Given the description of an element on the screen output the (x, y) to click on. 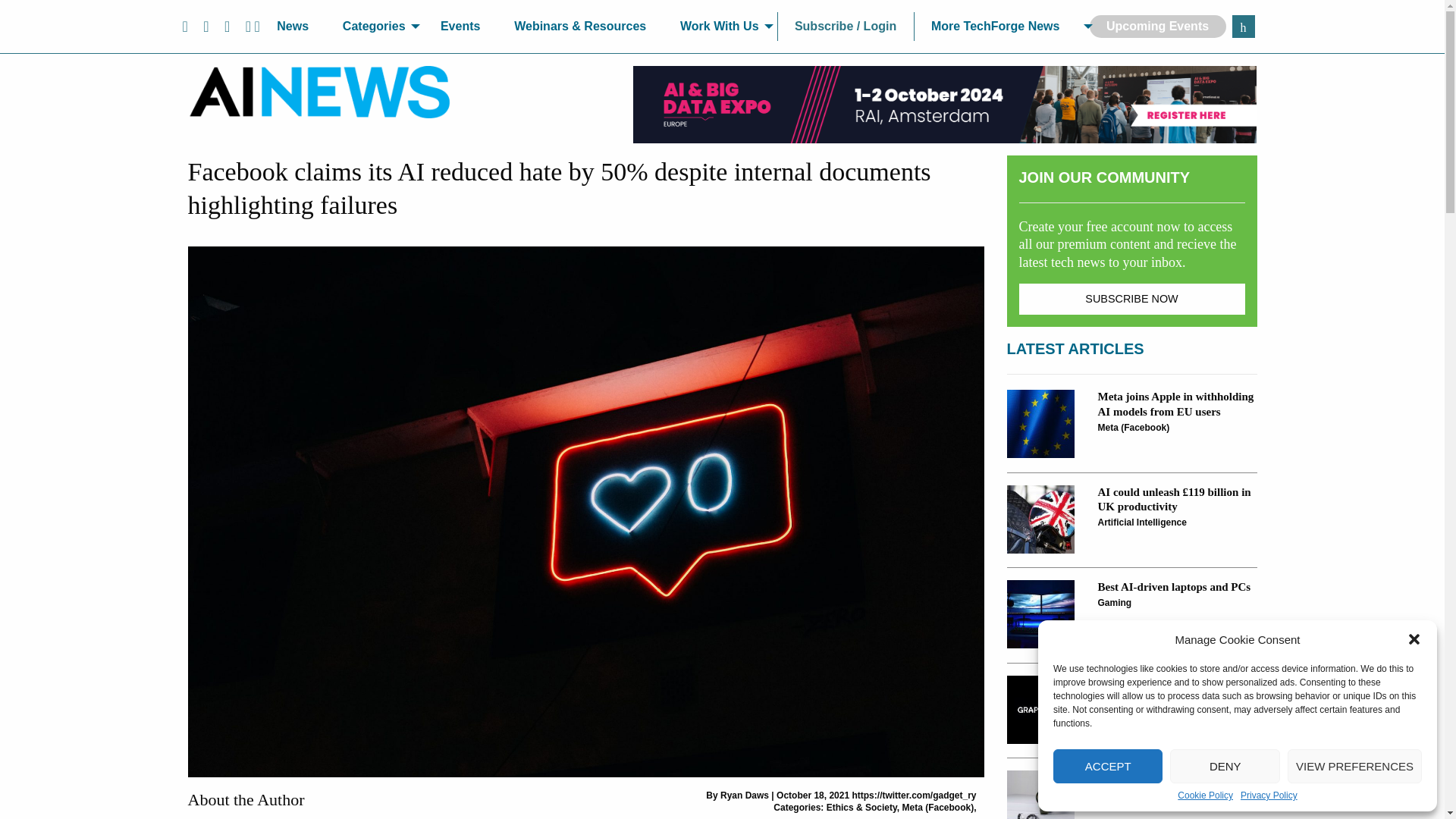
Best AI-driven laptops and PCs (1041, 613)
Posts by Ryan Daws (744, 795)
GO (1242, 26)
Privacy Policy (1268, 795)
Cookie Policy (1205, 795)
Meta joins Apple in withholding AI models from EU users (1041, 423)
News (293, 26)
VIEW PREFERENCES (1354, 765)
ACCEPT (1106, 765)
SoftBank acquires British AI chipmaker Graphcore (1041, 709)
